Given the description of an element on the screen output the (x, y) to click on. 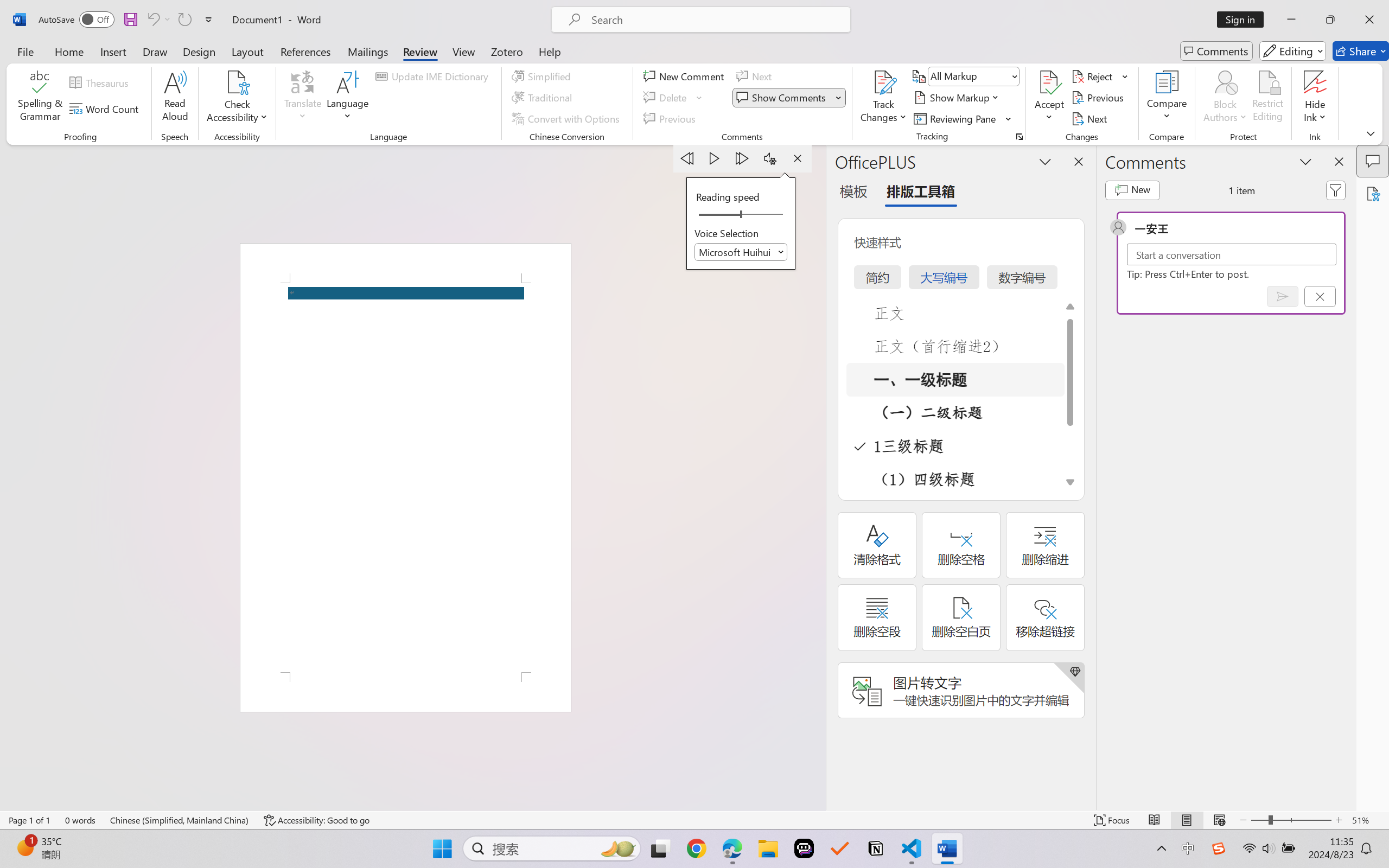
Spelling & Grammar (39, 97)
Delete (673, 97)
Reject (1100, 75)
Translate (303, 97)
Editing (1292, 50)
New comment (1132, 190)
Accessibility Assistant (1373, 193)
Previous (1099, 97)
